Given the description of an element on the screen output the (x, y) to click on. 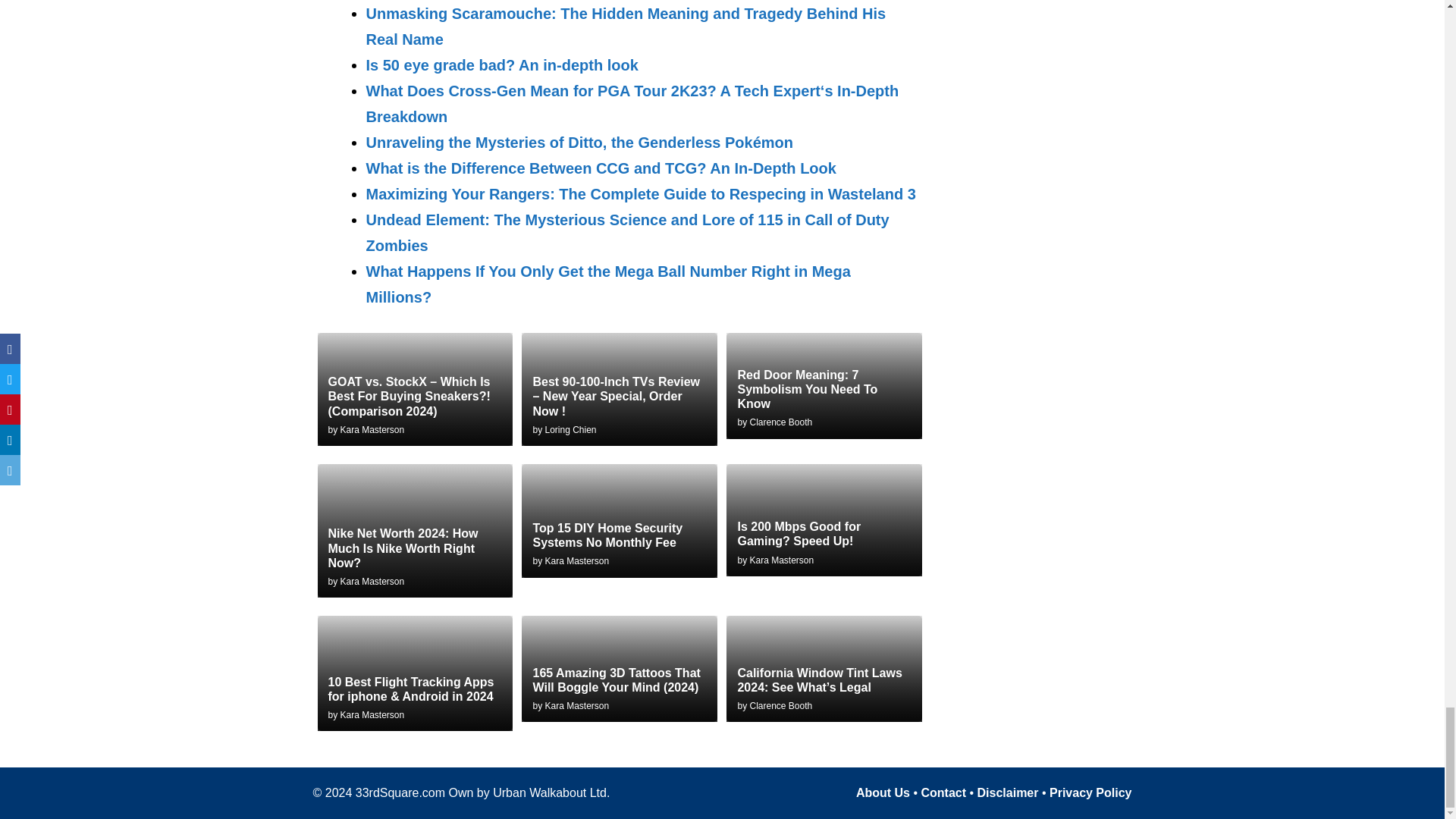
Is 50 eye grade bad? An in-depth look (501, 64)
What is the Difference Between CCG and TCG? An In-Depth Look (600, 167)
